Given the description of an element on the screen output the (x, y) to click on. 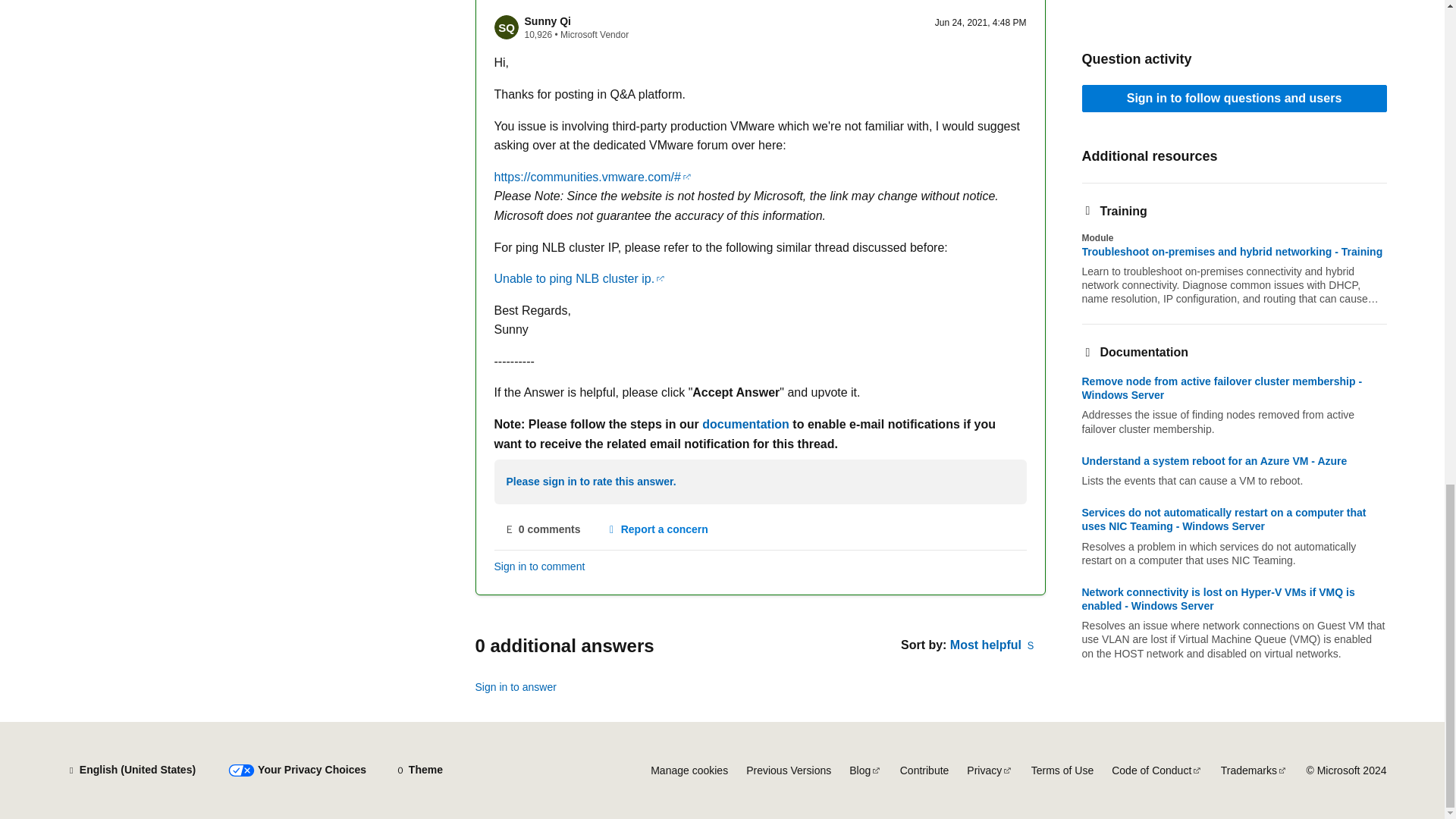
Reputation points (538, 34)
Report a concern (656, 529)
No comments (543, 529)
